Given the description of an element on the screen output the (x, y) to click on. 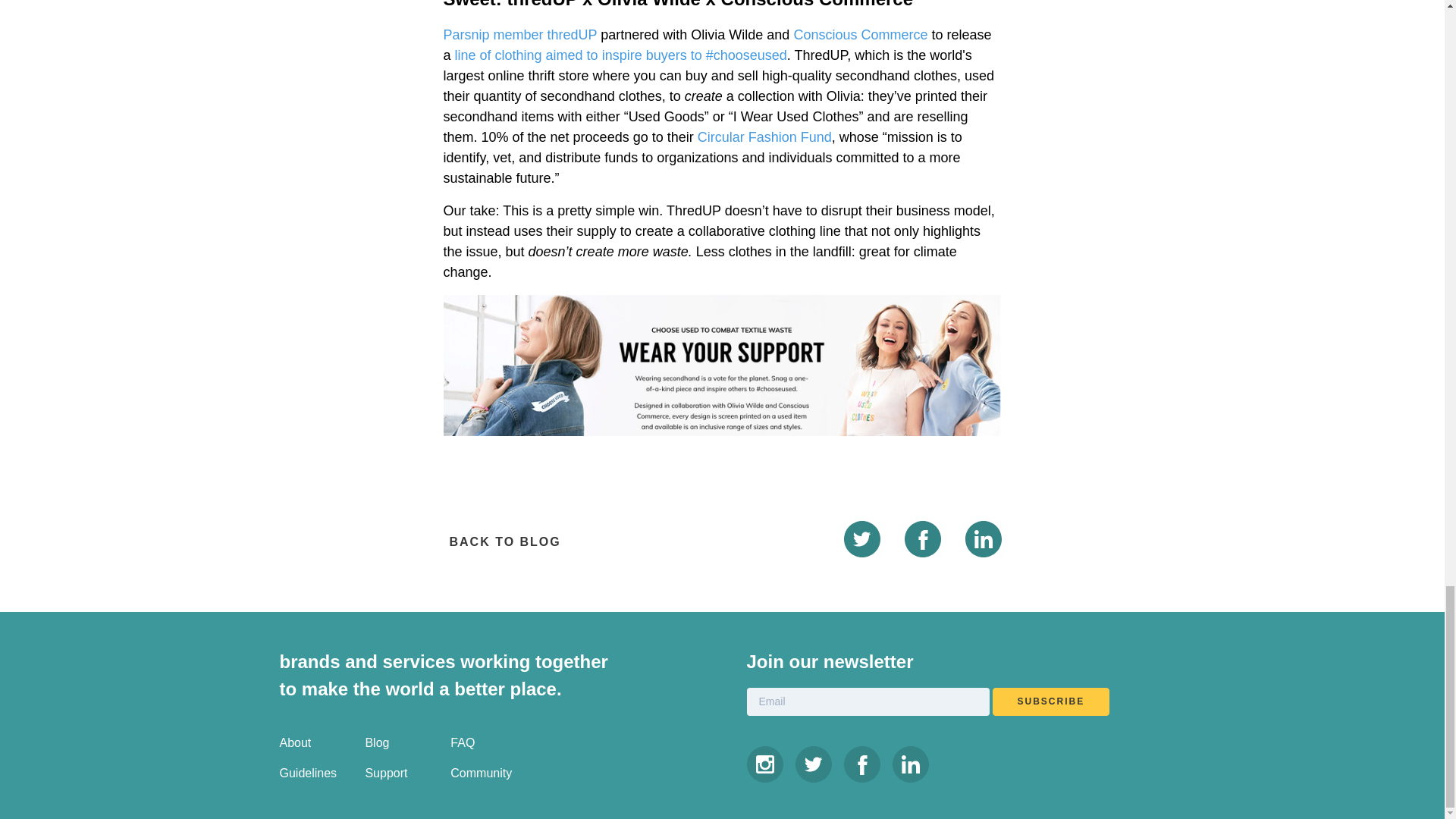
Parsnip member thredUP (519, 34)
Support (386, 772)
About (295, 742)
Blog (376, 742)
BACK TO BLOG (501, 540)
Circular Fashion Fund (764, 136)
FAQ (461, 742)
Community (480, 772)
SUBSCRIBE (1050, 701)
Conscious Commerce (860, 34)
Guidelines (307, 772)
